Given the description of an element on the screen output the (x, y) to click on. 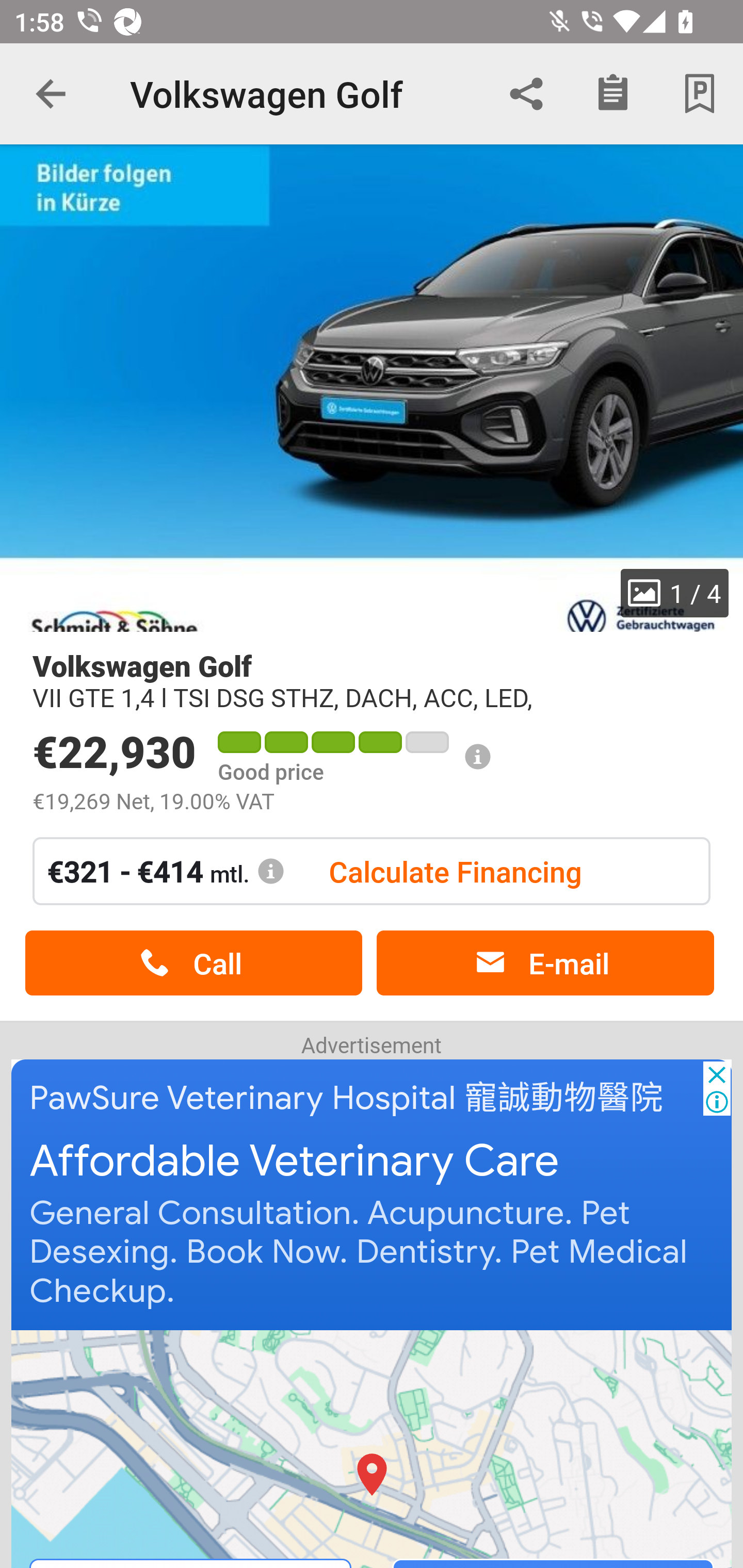
Navigate up (50, 93)
Share via (525, 93)
Checklist (612, 93)
Park (699, 93)
Calculate Financing (454, 870)
€321 - €414 mtl. (165, 870)
Call (193, 963)
E-mail (545, 963)
PawSure Veterinary Hospital 寵誠動物醫院 (346, 1097)
Affordable Veterinary Care (294, 1161)
Directions Call (372, 1448)
